Given the description of an element on the screen output the (x, y) to click on. 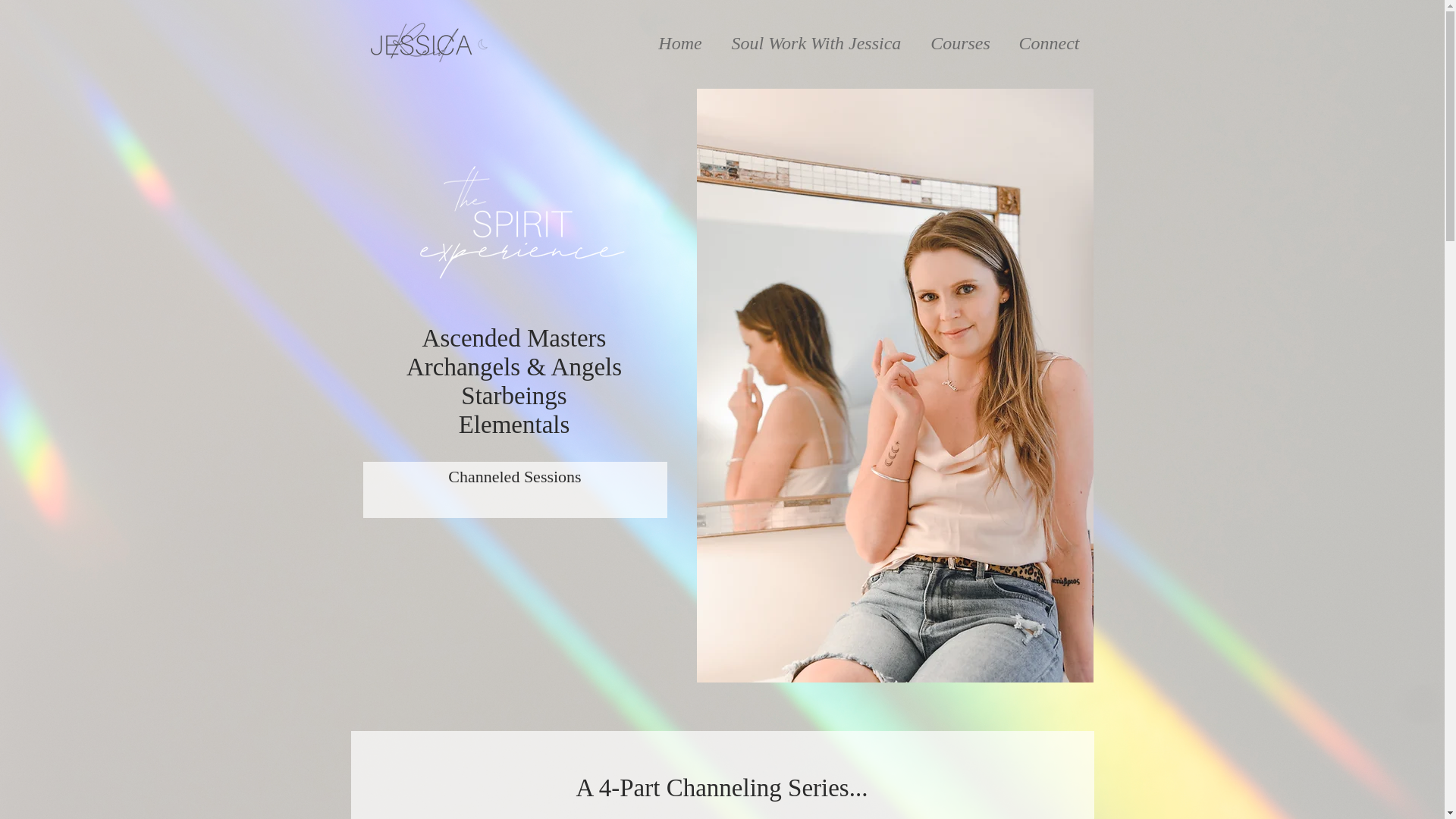
Connect (1048, 42)
Home (680, 42)
